Given the description of an element on the screen output the (x, y) to click on. 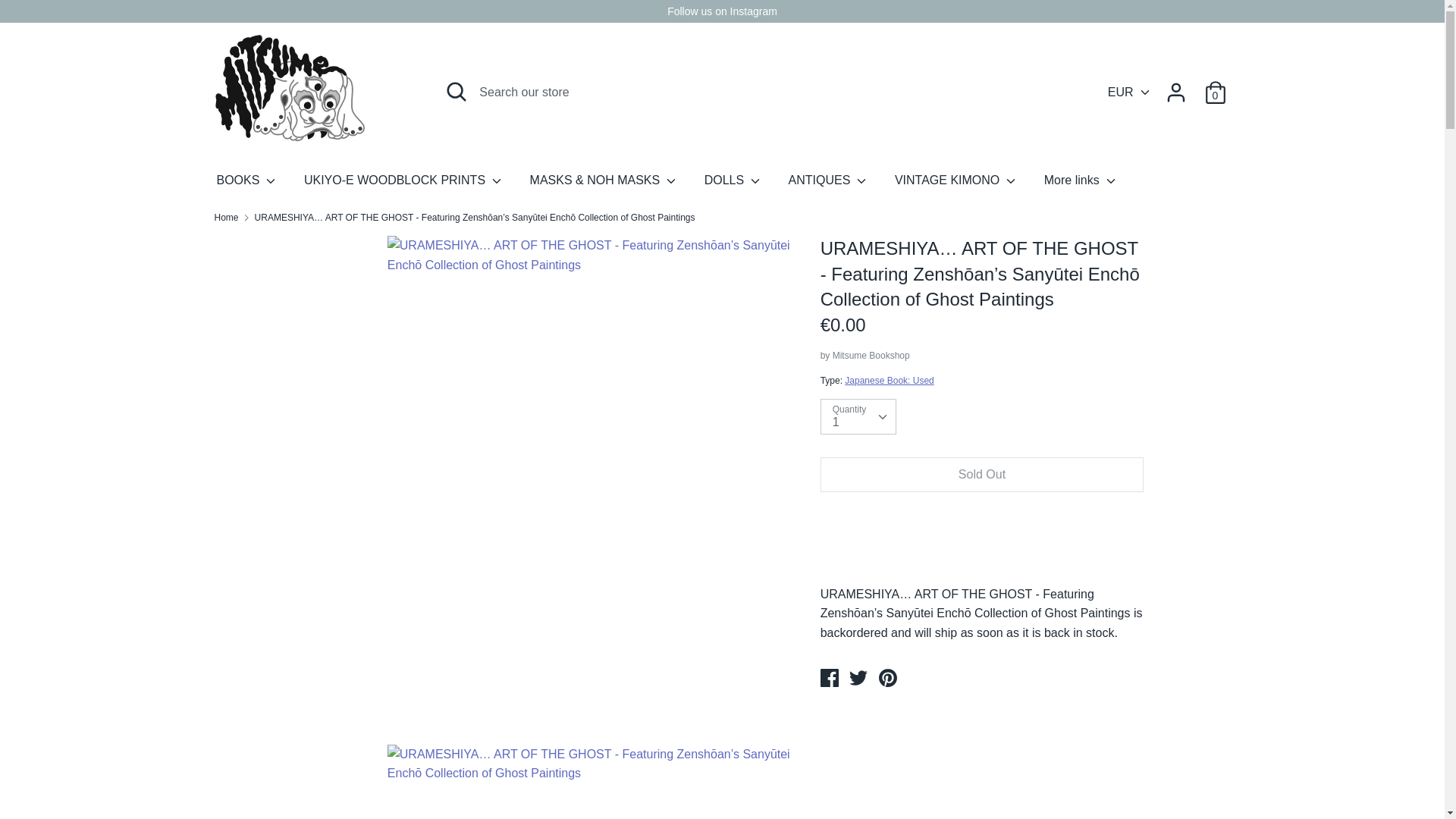
0 (1214, 86)
